Given the description of an element on the screen output the (x, y) to click on. 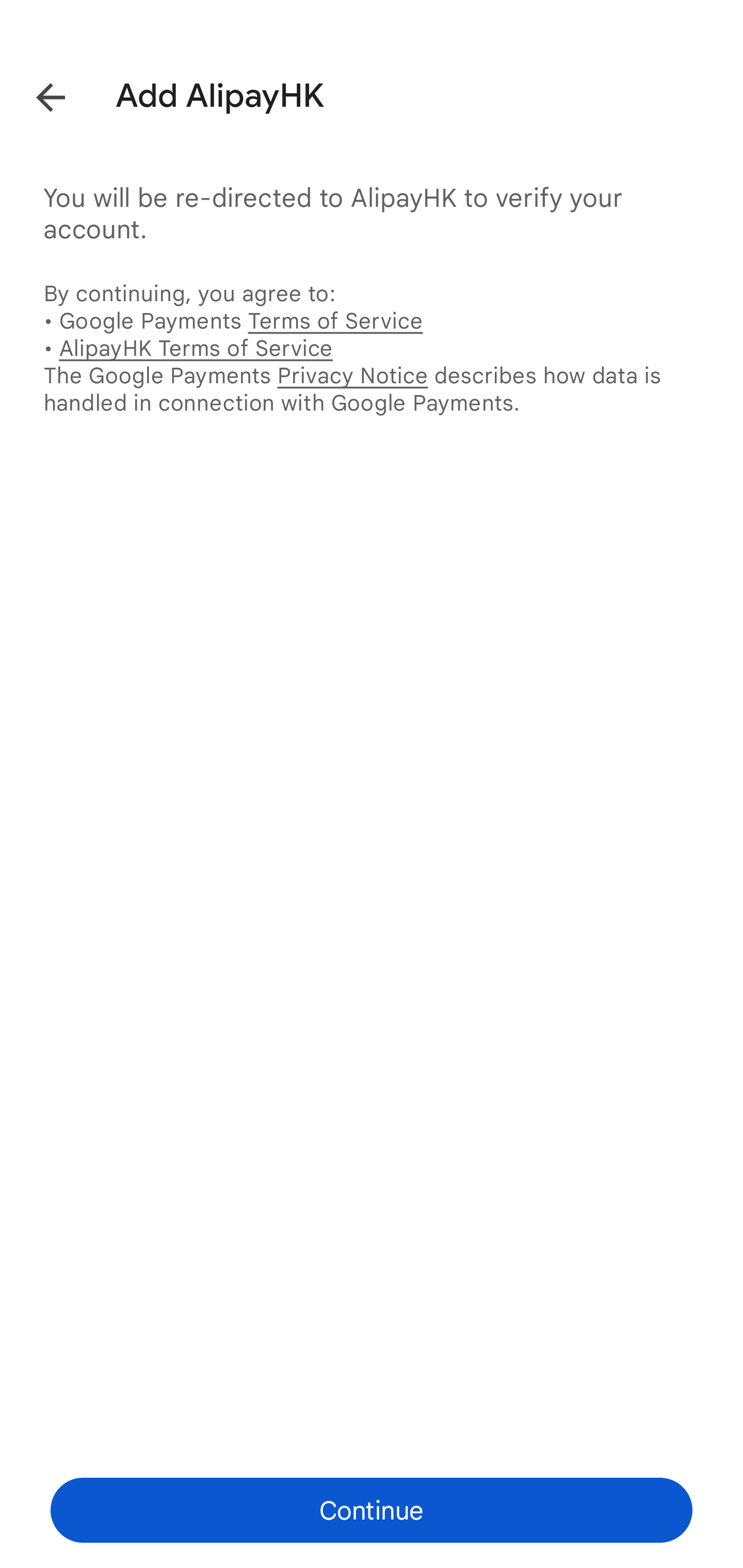
Back (36, 94)
Terms of Service (334, 320)
AlipayHK Terms of Service (195, 347)
Privacy Notice (352, 375)
Continue (371, 1510)
